Given the description of an element on the screen output the (x, y) to click on. 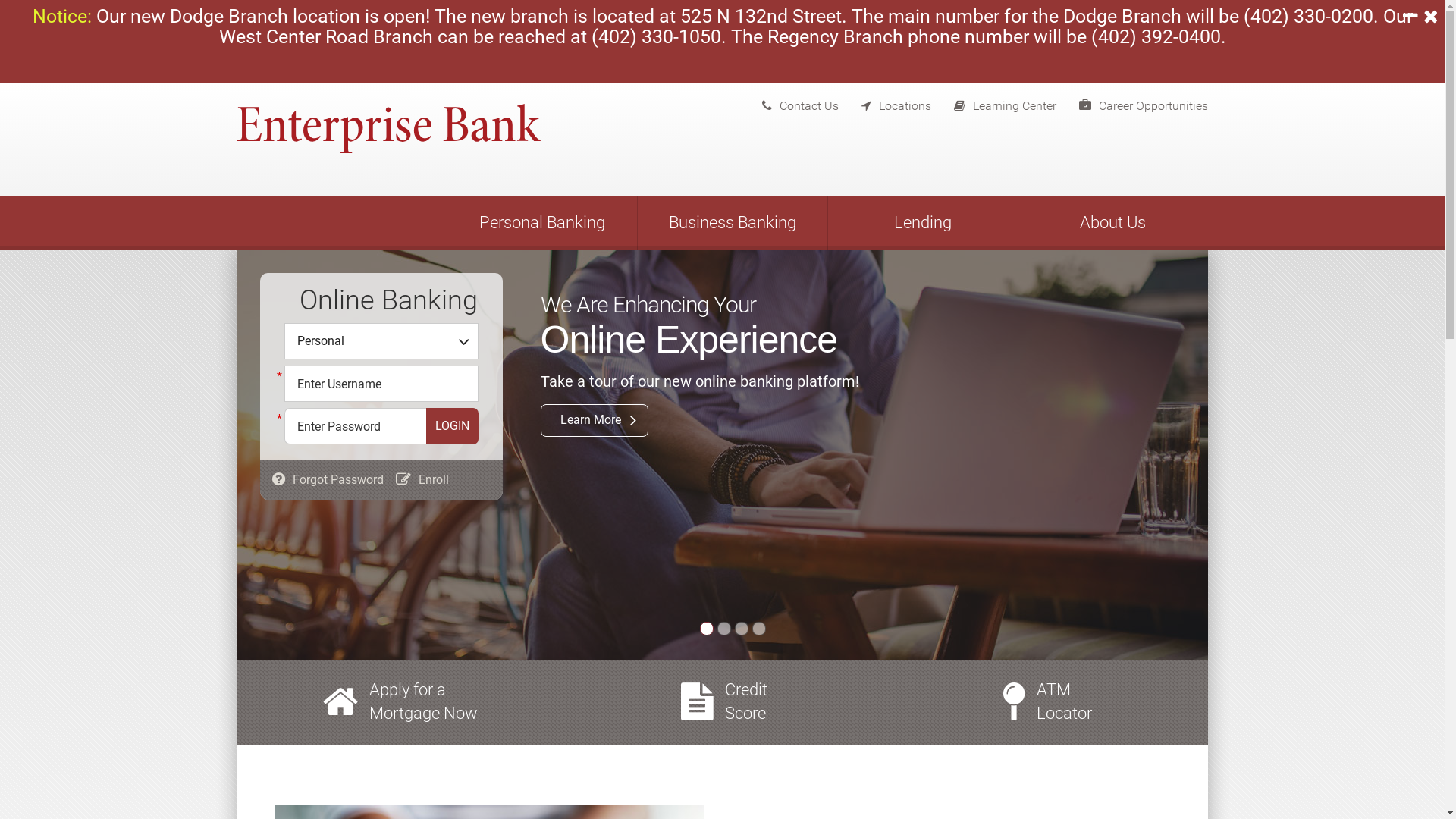
Enroll Element type: text (433, 479)
LOGIN Element type: text (452, 425)
Slide Business People Element type: text (740, 628)
Contact Us Element type: text (787, 102)
Credit
Score Element type: text (745, 701)
Locations Element type: text (884, 102)
About Us Element type: text (1112, 222)
ATM
Locator Element type: text (1064, 701)
Slide House Element type: text (724, 628)
Apply for a
Mortgage Now Element type: text (423, 701)
Slide Man on Laptop Element type: text (705, 628)
Lending Element type: text (922, 222)
Learning Center Element type: text (993, 102)
Career Opportunities Element type: text (1131, 102)
Business Banking Element type: text (731, 222)
Forgot Password Element type: text (337, 479)
Personal Banking Element type: text (542, 222)
Slide Couple working on finances Element type: text (758, 628)
